Given the description of an element on the screen output the (x, y) to click on. 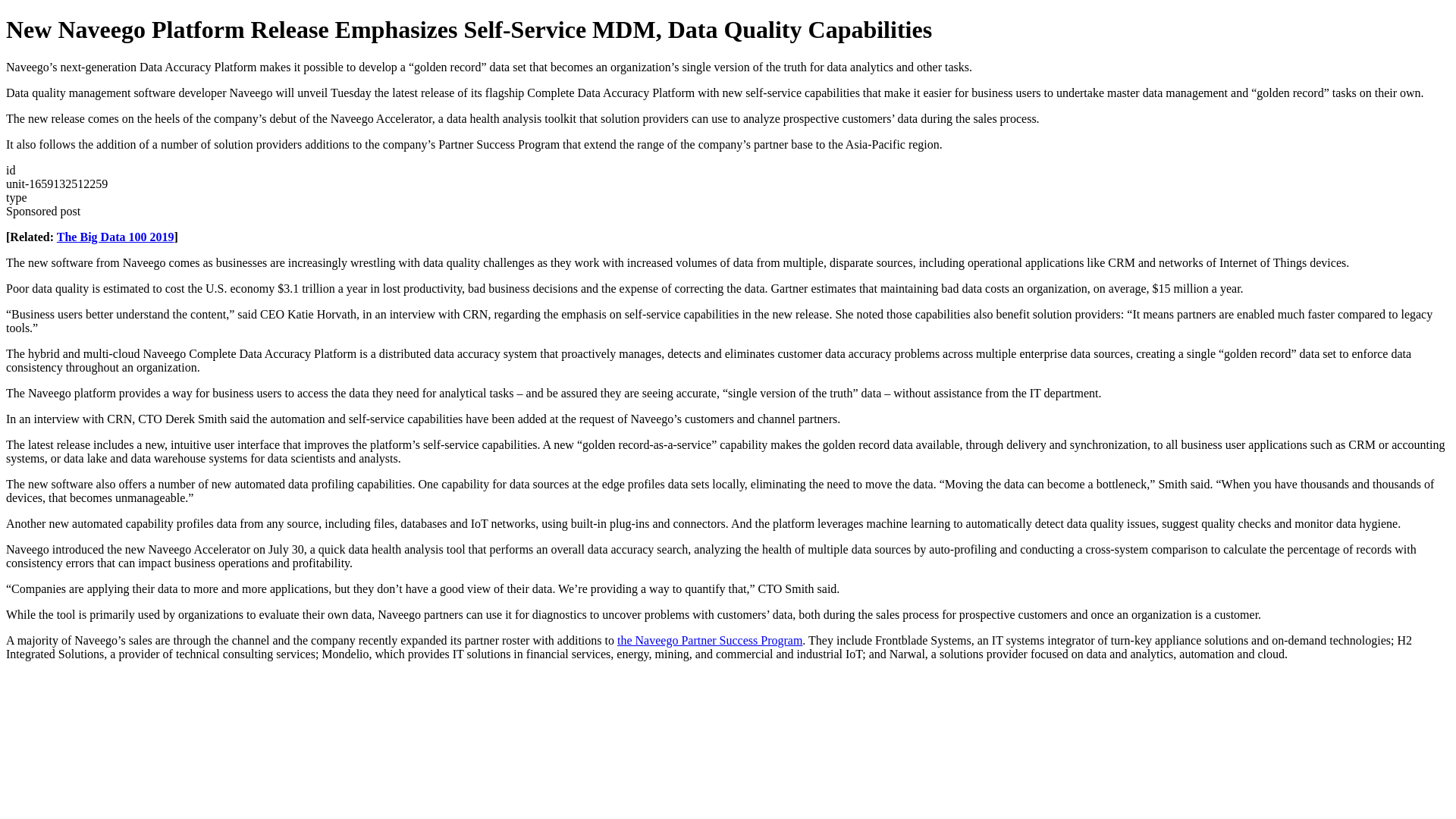
The Big Data 100 2019 (115, 236)
